Given the description of an element on the screen output the (x, y) to click on. 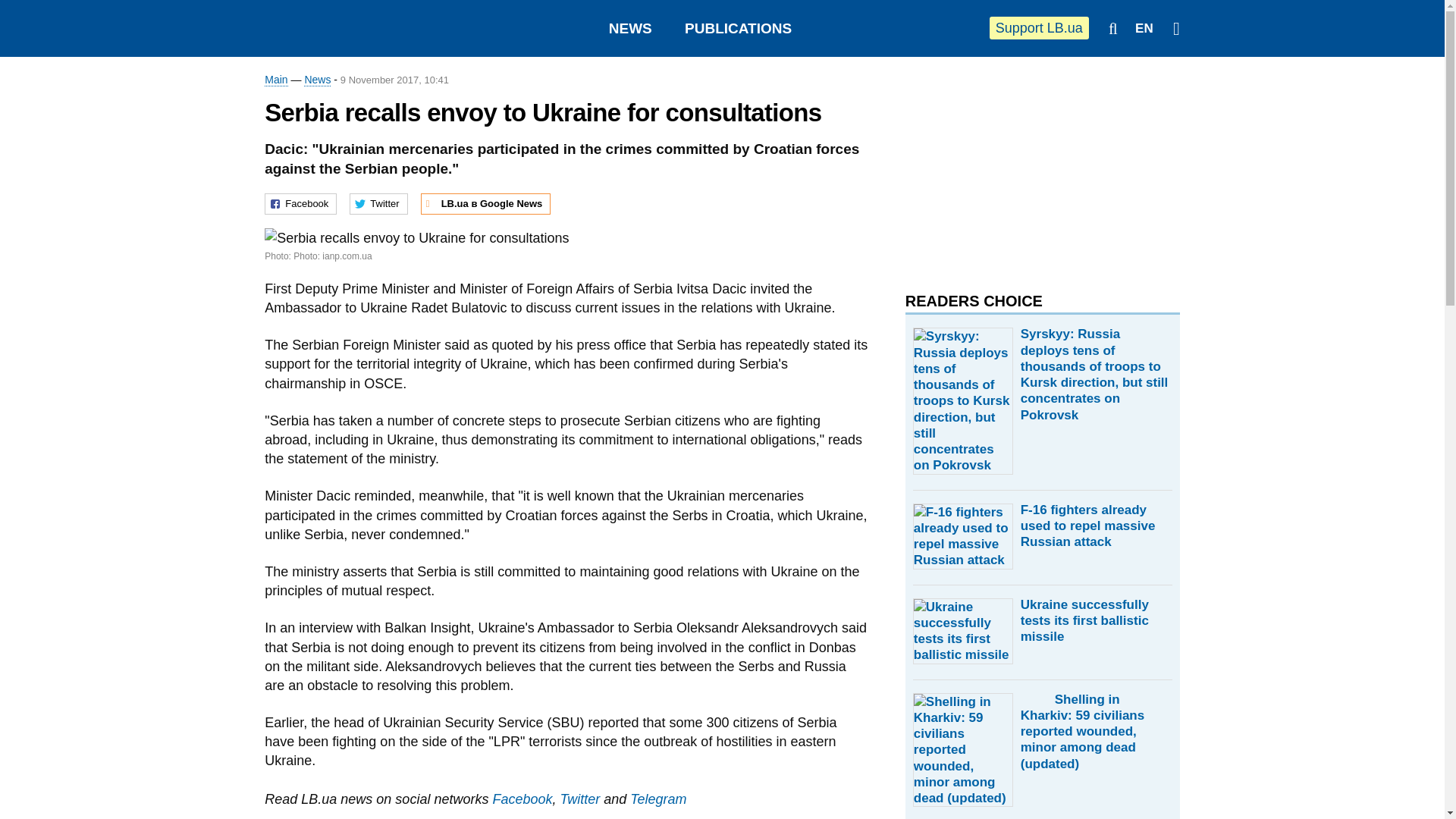
News (317, 79)
Telegram (657, 798)
EN (1144, 28)
Twitter (579, 798)
PUBLICATIONS (738, 28)
Support LB.ua (1039, 27)
Facebook (521, 798)
NEWS (630, 28)
Main (275, 79)
